Given the description of an element on the screen output the (x, y) to click on. 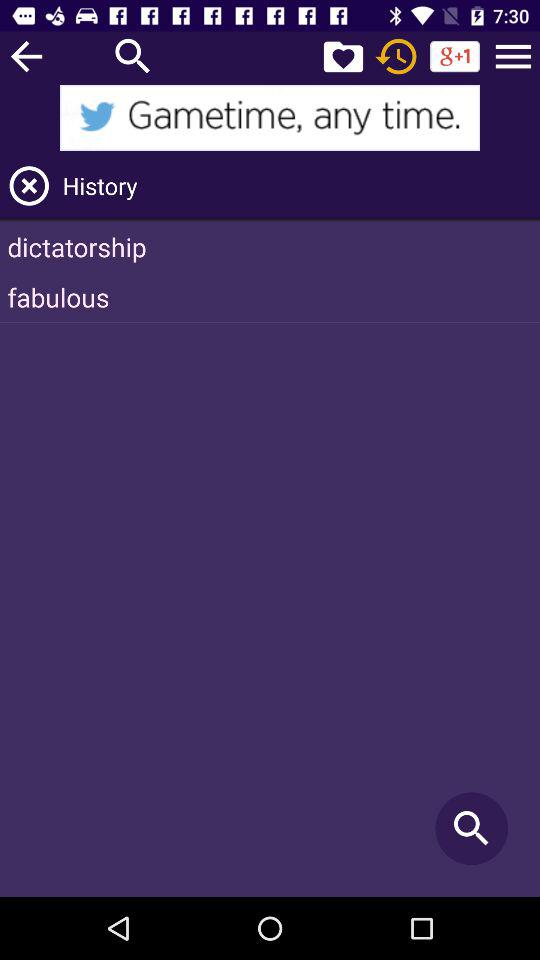
see favorites (343, 56)
